Given the description of an element on the screen output the (x, y) to click on. 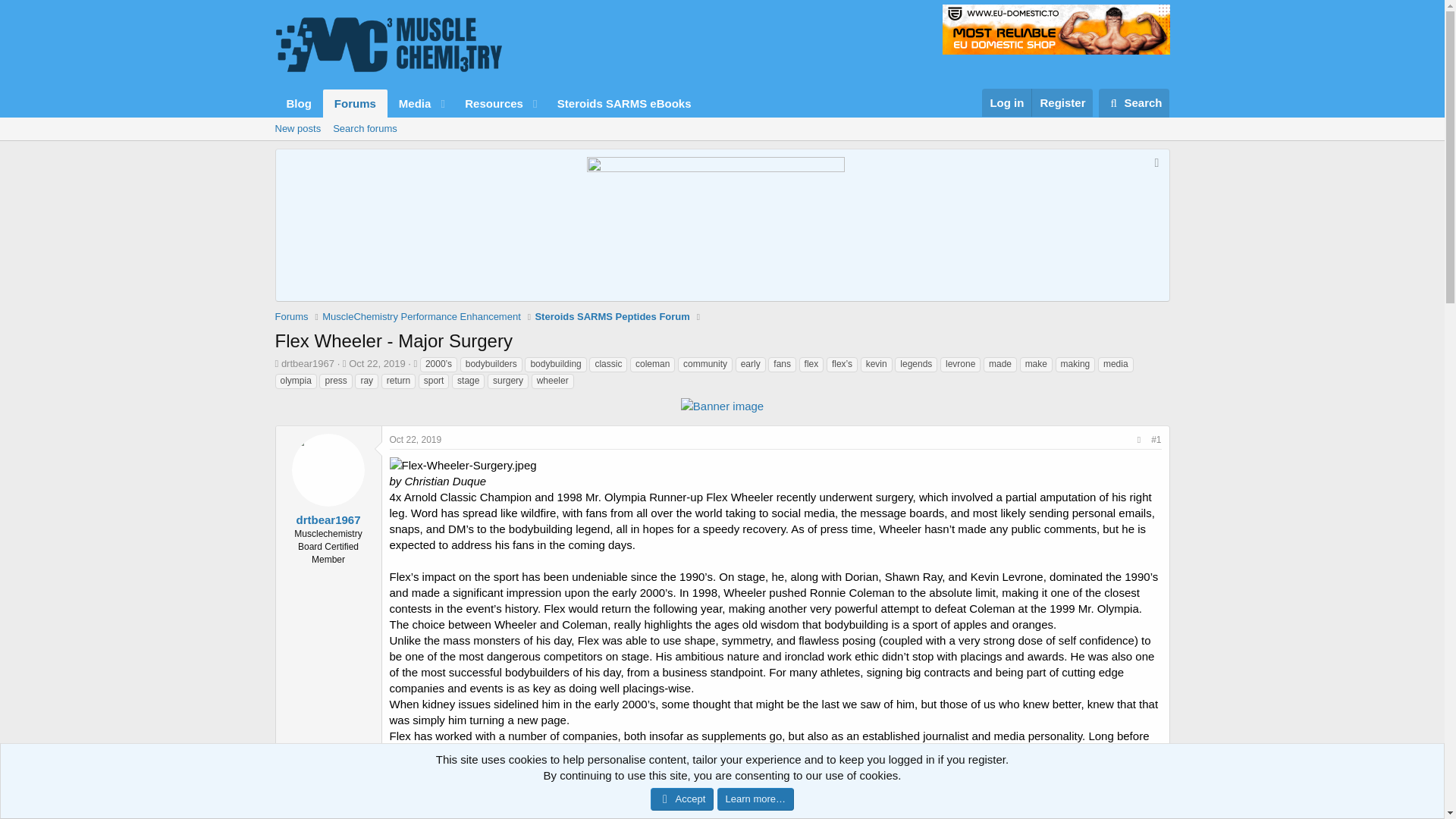
Oct 22, 2019 at 6:52 AM (376, 363)
MuscleChemistry Performance Enhancement (421, 316)
New posts (296, 128)
Search (488, 103)
Steroids SARMS Peptides Forum (1134, 102)
Flex-Wheeler-Surgery.jpeg (611, 316)
drtbear1967 (463, 465)
Search (307, 363)
Blog (1134, 102)
Search forums (720, 128)
Forums (298, 103)
Steroids SARMS eBooks (364, 128)
Forums (355, 103)
